Given the description of an element on the screen output the (x, y) to click on. 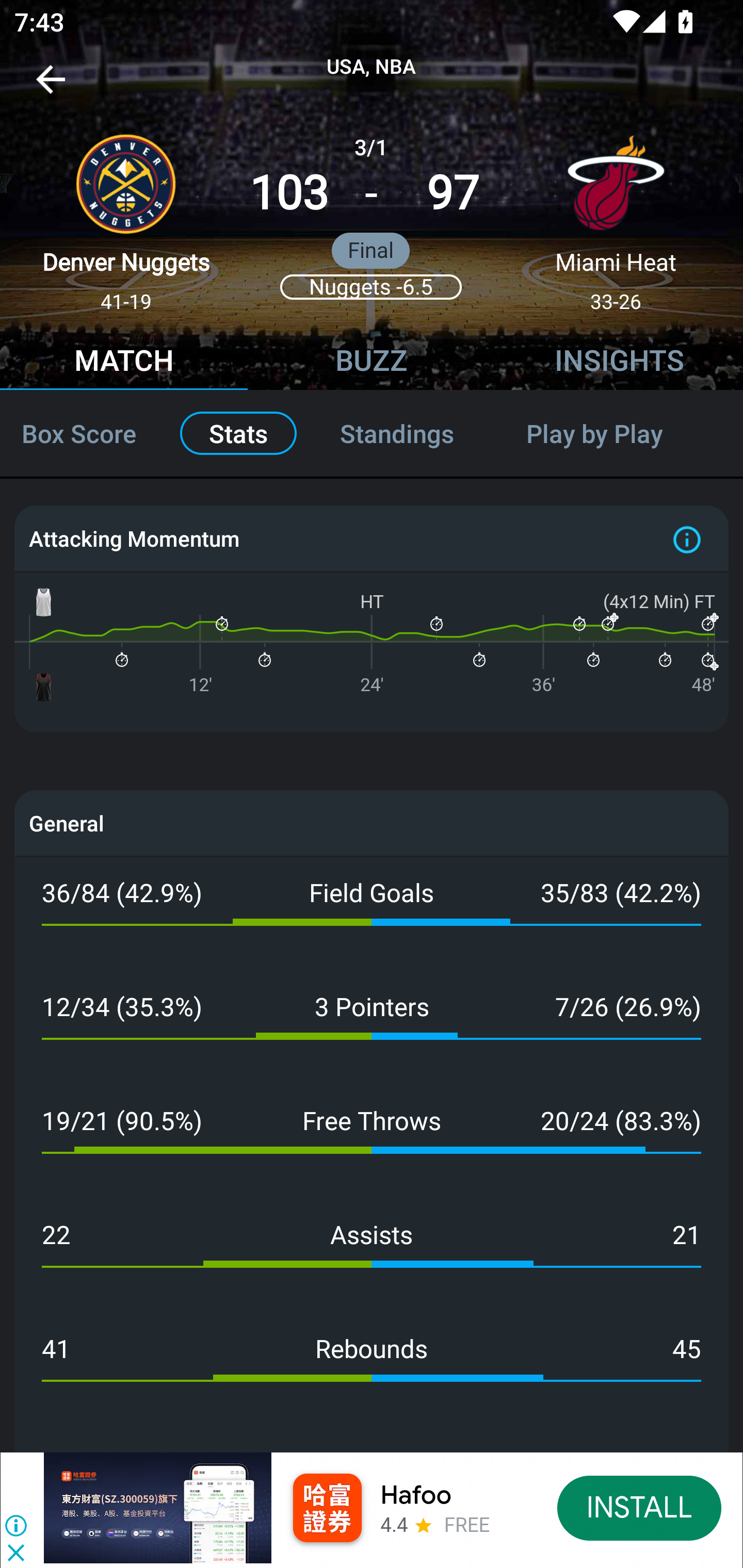
Navigate up (50, 86)
USA, NBA (371, 66)
Denver Nuggets 41-19 (126, 214)
Miami Heat 33-26 (616, 214)
103 (288, 192)
97 (453, 192)
MATCH (123, 362)
BUZZ (371, 362)
INSIGHTS (619, 362)
Box Score (86, 433)
Standings (396, 433)
Play by Play (616, 433)
36/84 (42.9%) Field Goals 35/83 (42.2%) 42.0 42.0 (371, 913)
12/34 (35.3%) 3 Pointers 7/26 (26.9%) 35.0 26.0 (371, 1027)
19/21 (90.5%) Free Throws 20/24 (83.3%) 90.0 83.0 (371, 1142)
22 Assists 21 51.0 49.0 (371, 1256)
41 Rebounds 45 48.0 52.0 (371, 1369)
INSTALL (639, 1507)
Hafoo (416, 1494)
